Given the description of an element on the screen output the (x, y) to click on. 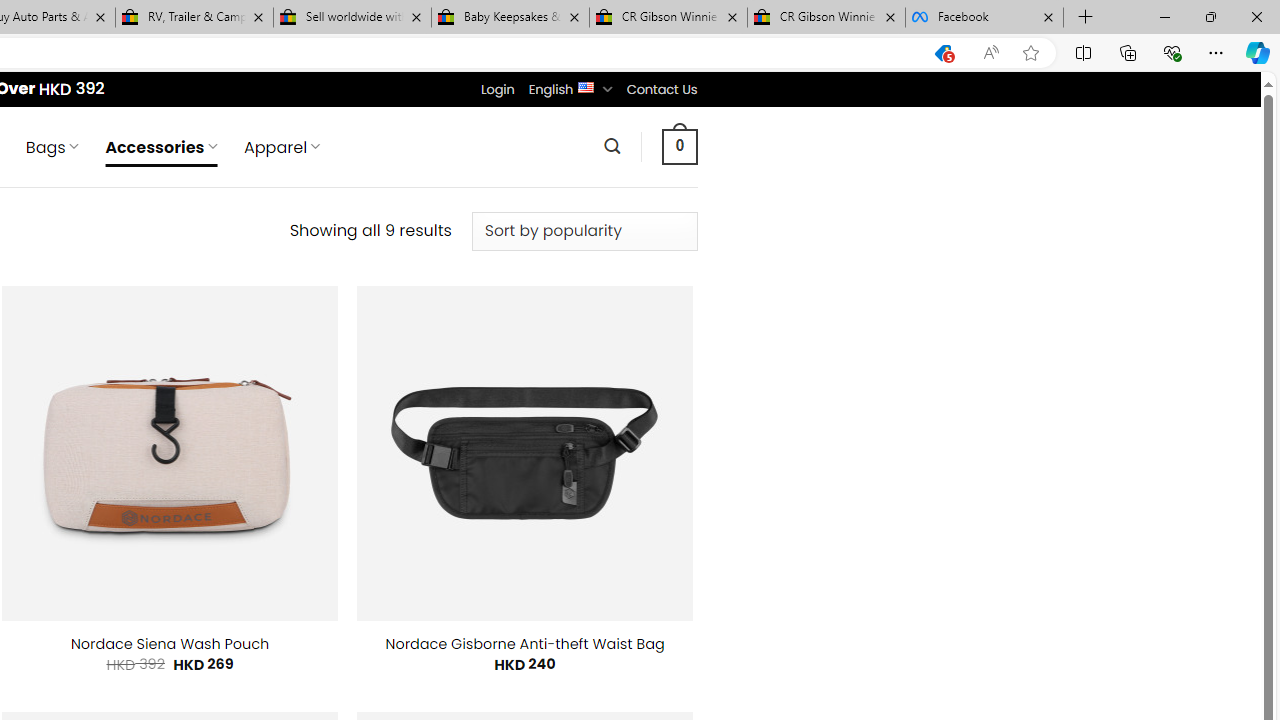
Login (497, 89)
Sell worldwide with eBay (352, 17)
RV, Trailer & Camper Steps & Ladders for sale | eBay (194, 17)
Contact Us (661, 89)
Facebook (984, 17)
 0  (679, 146)
